Given the description of an element on the screen output the (x, y) to click on. 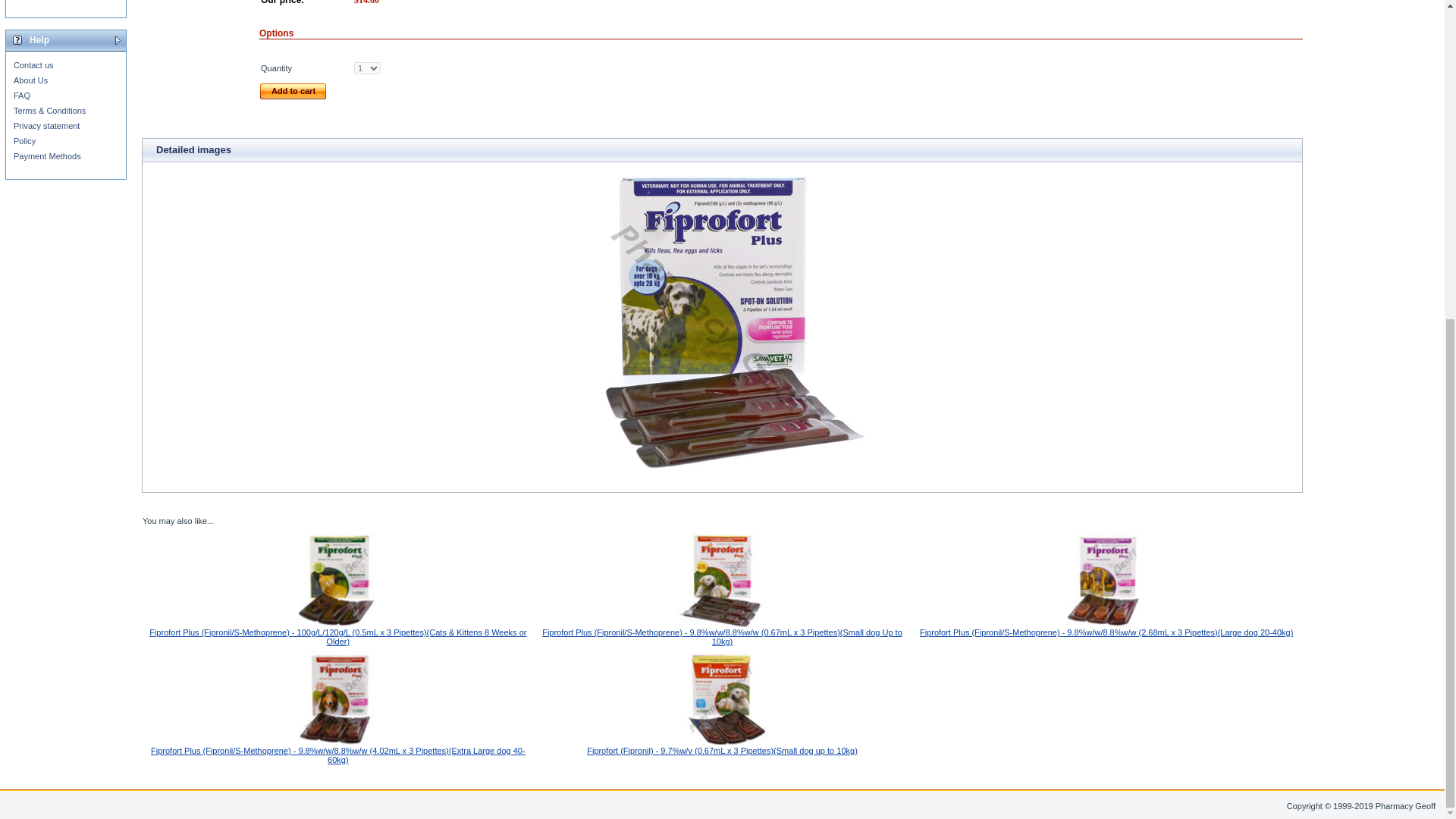
Add to cart (293, 90)
Policy (23, 140)
Add to cart (293, 90)
Payment Methods (47, 155)
Contact us (33, 64)
About Us (30, 80)
Privacy statement (46, 125)
FAQ (21, 94)
